Given the description of an element on the screen output the (x, y) to click on. 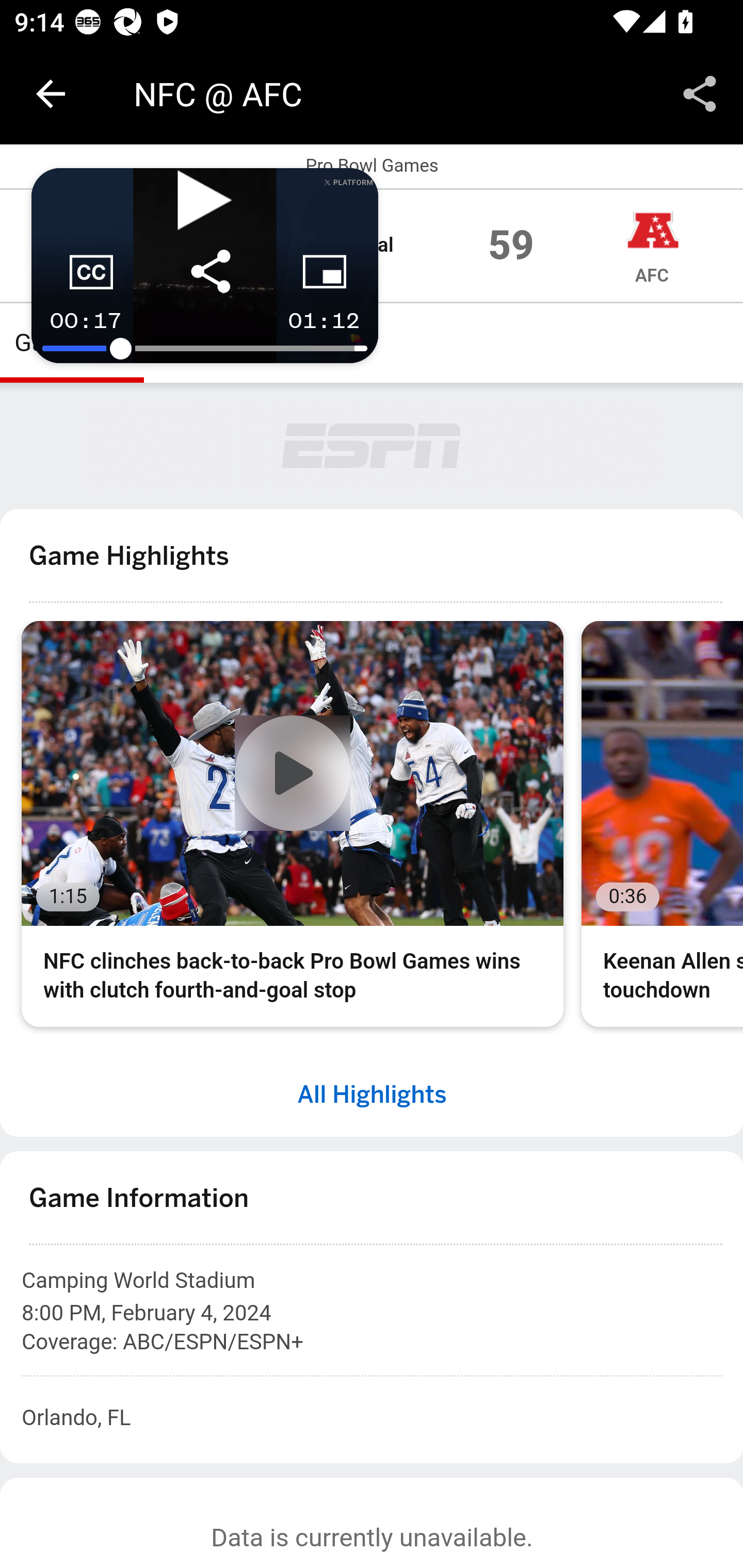
Navigate up (50, 93)
Share (699, 93)
AFC (651, 229)
Advertisement (372, 446)
All Highlights (372, 1093)
